Given the description of an element on the screen output the (x, y) to click on. 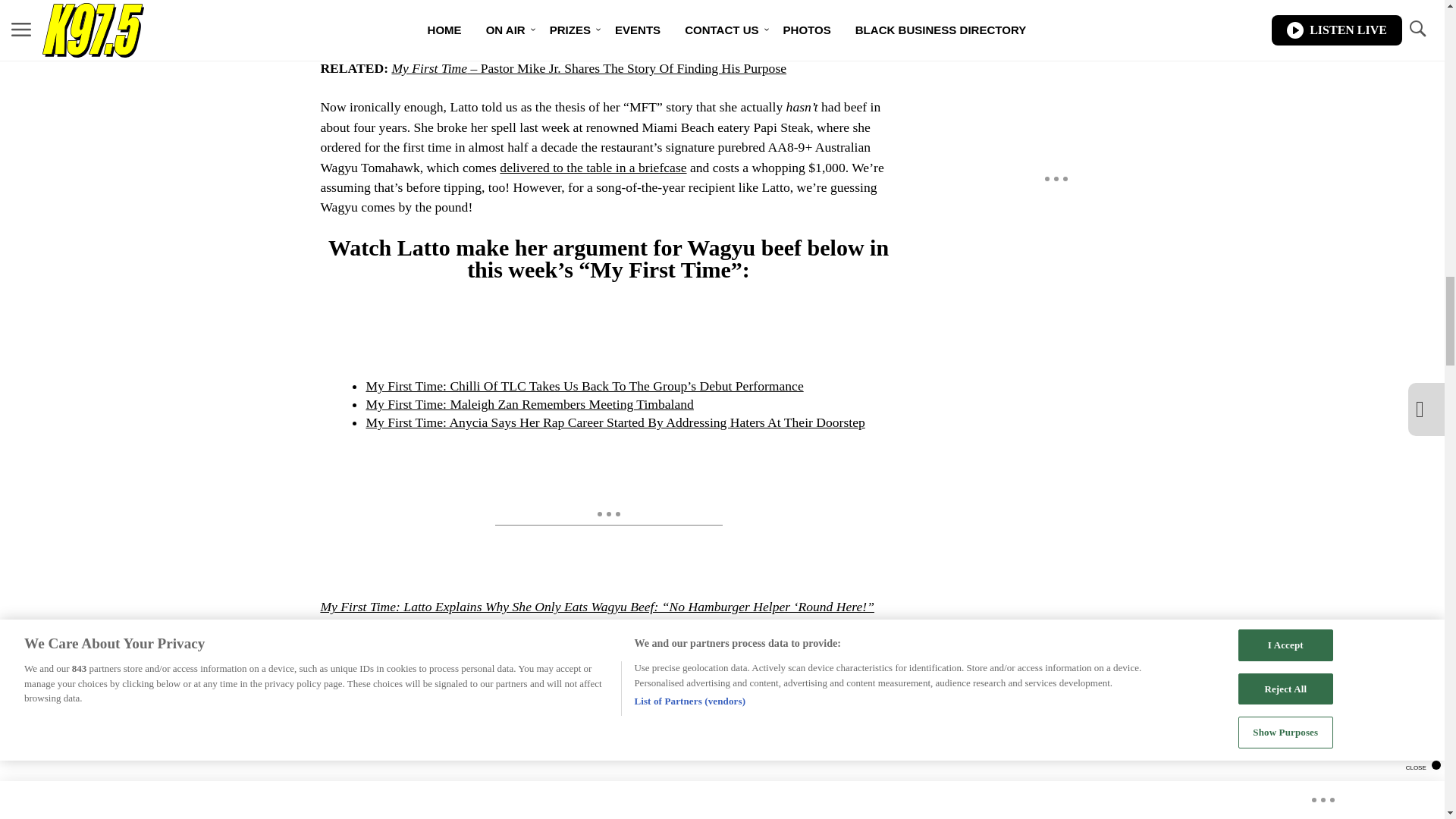
Vuukle Sharebar Widget (585, 741)
LATTO (346, 703)
delivered to the table in a briefcase (592, 167)
WAGYU (513, 703)
My First Time: Maleigh Zan Remembers Meeting Timbaland (529, 403)
MY FIRST TIME (429, 703)
blackamericaweb.com (531, 626)
